Given the description of an element on the screen output the (x, y) to click on. 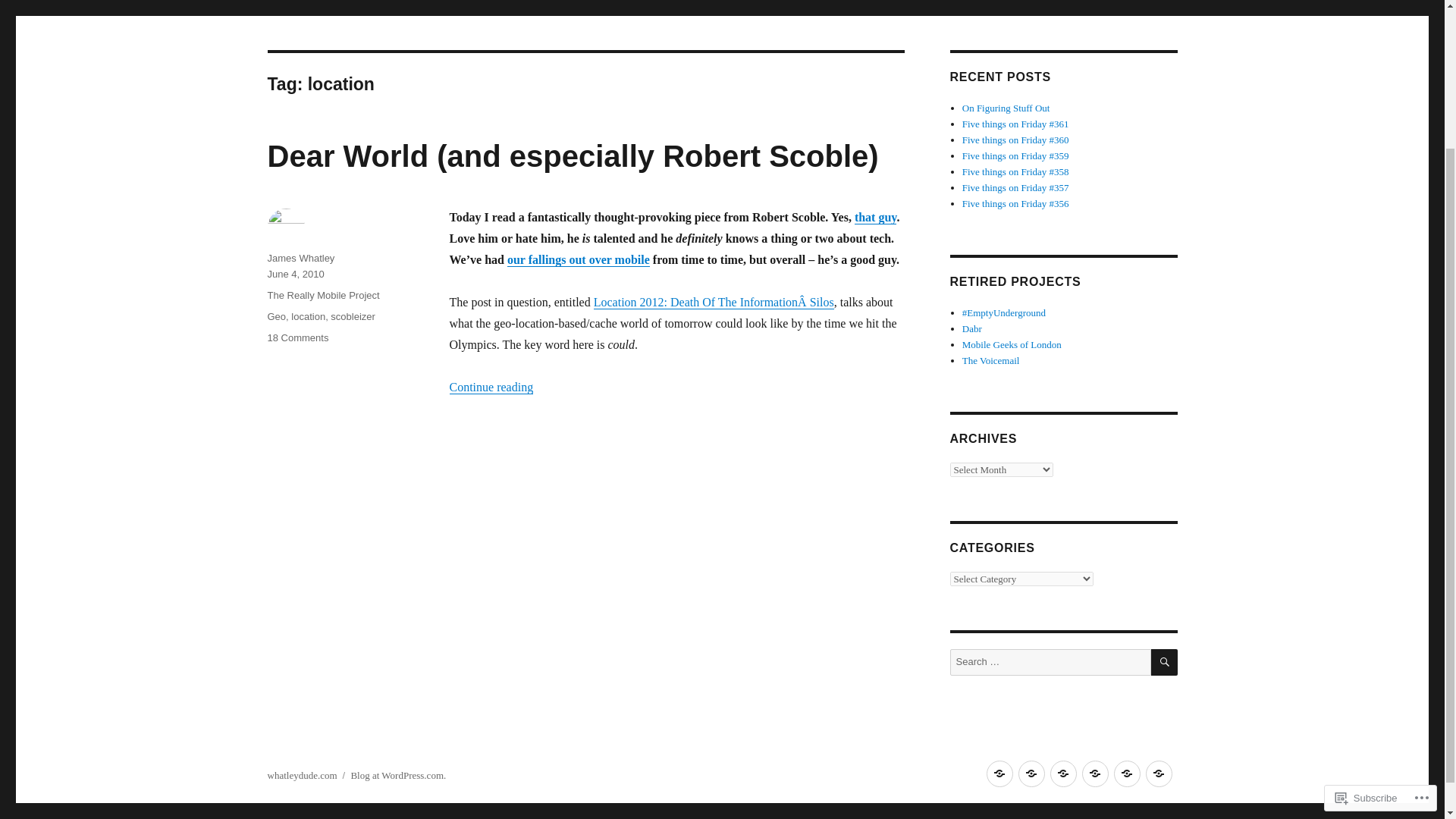
June 4, 2010 (294, 274)
Geo (275, 316)
location (307, 316)
The Voicemail (991, 360)
James Whatley (300, 257)
that guy (875, 216)
scobleizer (352, 316)
our fallings out over mobile (577, 259)
Mobile Geeks of London (1011, 344)
Dabr (971, 328)
18 Comments (297, 337)
On Figuring Stuff Out (1005, 107)
Continue reading (490, 386)
The Really Mobile Project (322, 295)
